Given the description of an element on the screen output the (x, y) to click on. 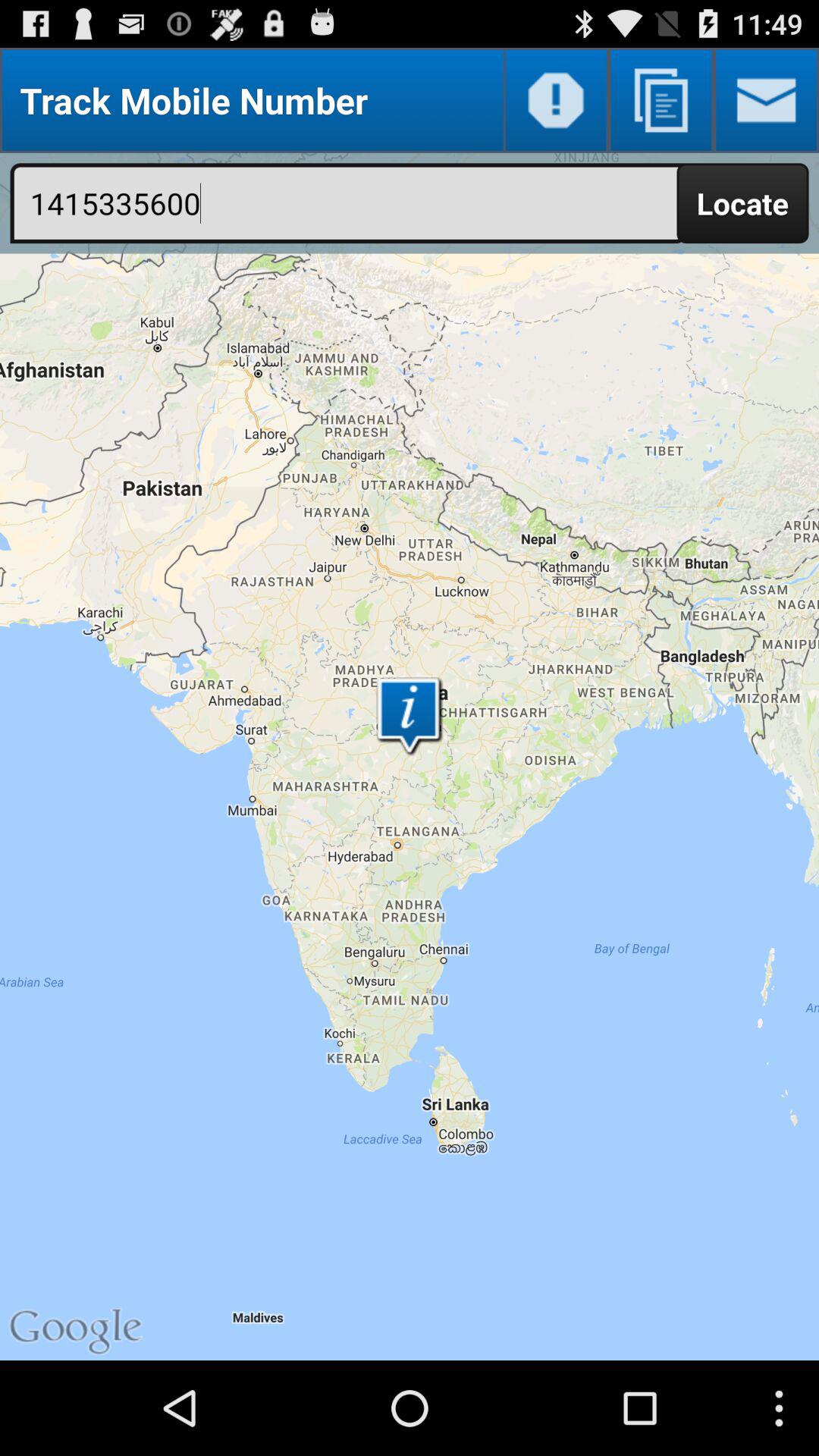
open (766, 99)
